Given the description of an element on the screen output the (x, y) to click on. 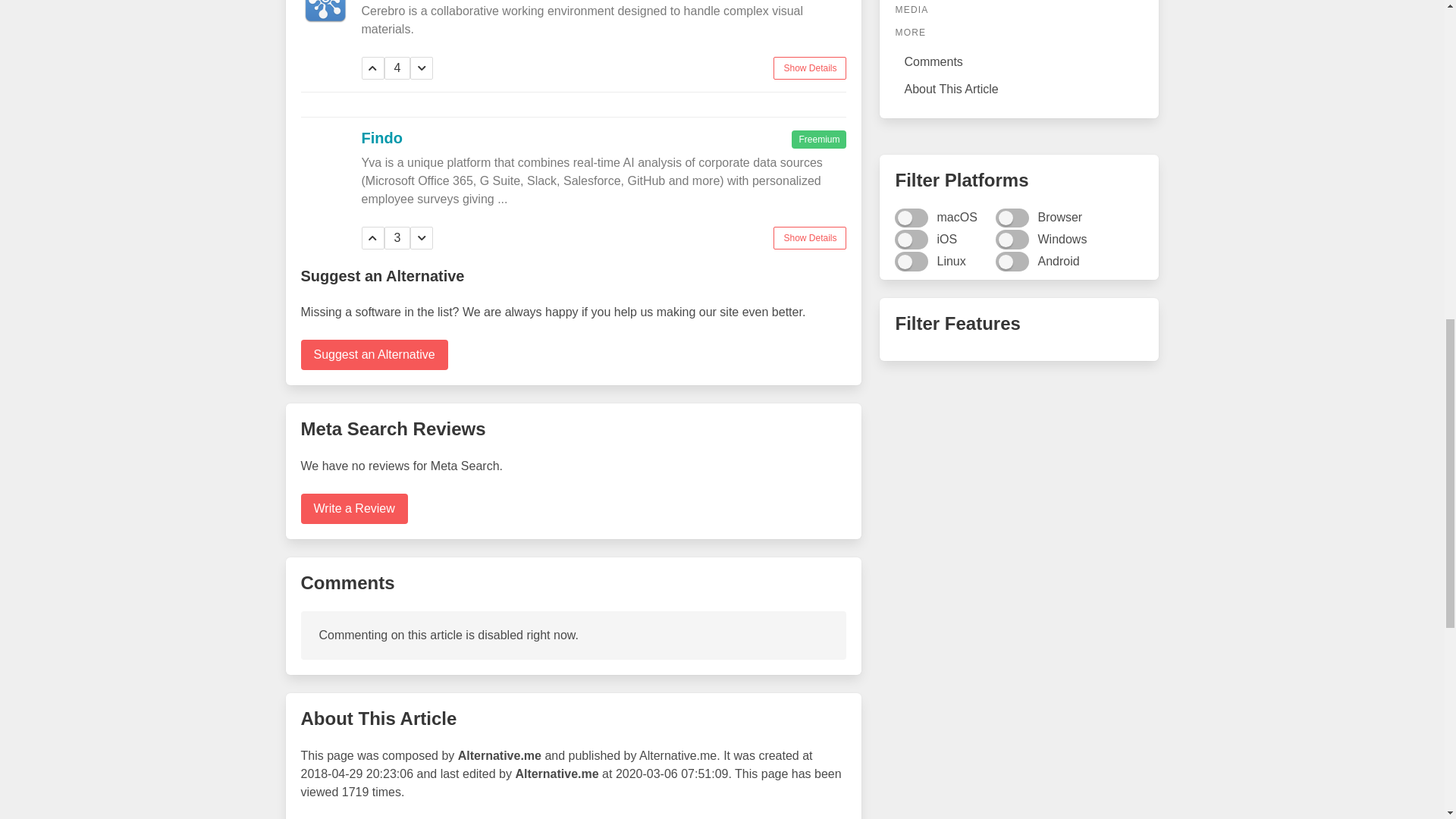
Show Details (809, 237)
Comments (1018, 62)
Findo (381, 136)
Show Details (809, 67)
About This Article (1018, 89)
